Given the description of an element on the screen output the (x, y) to click on. 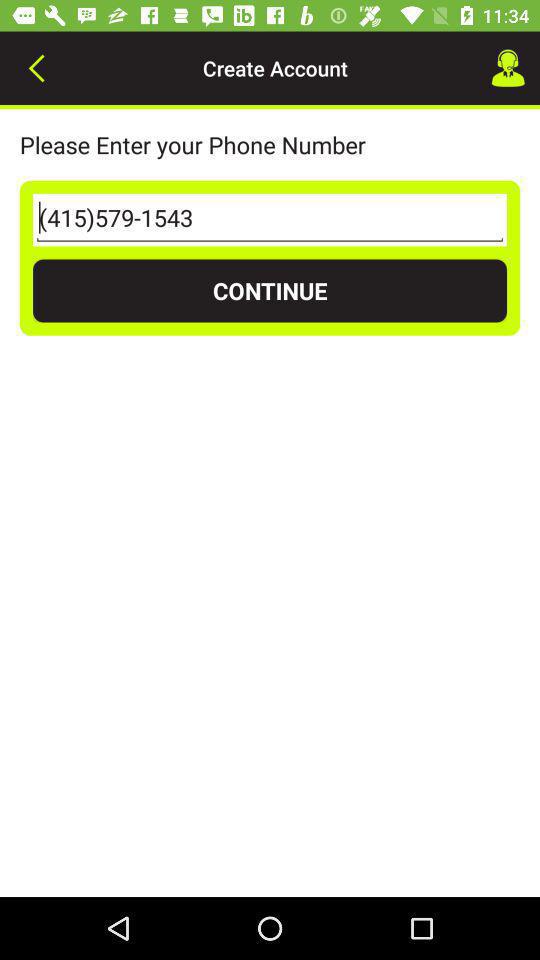
turn on continue item (270, 290)
